Given the description of an element on the screen output the (x, y) to click on. 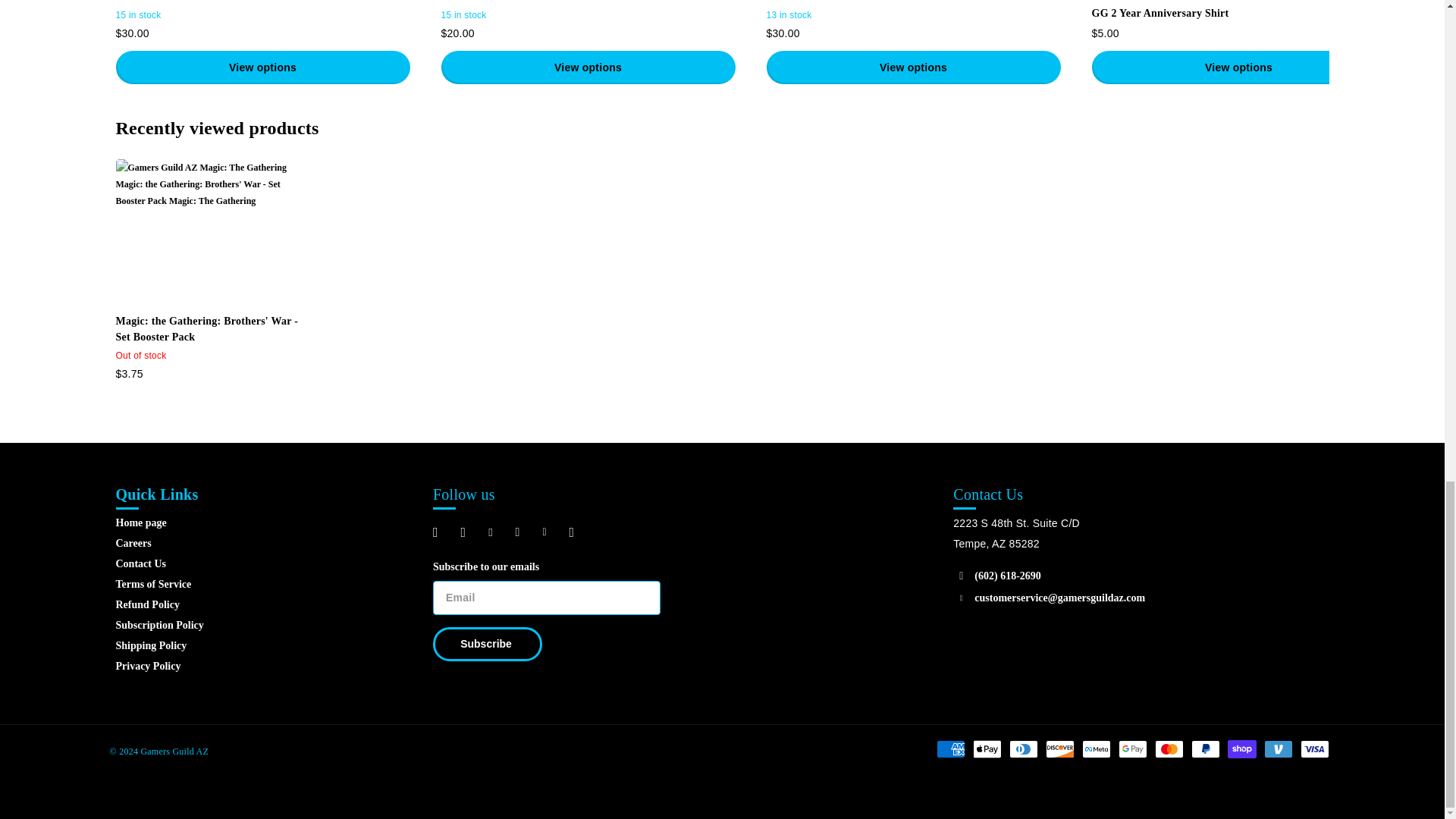
PayPal (1205, 749)
Refund Policy (147, 604)
Terms of Service (152, 583)
Meta Pay (1095, 749)
Visa (1313, 749)
Contact Us (140, 563)
Google Pay (1132, 749)
Mastercard (1168, 749)
Venmo (1277, 749)
Privacy Policy (147, 665)
Shop Pay (1241, 749)
Discover (1059, 749)
Home page (140, 522)
American Express (949, 749)
Diners Club (1022, 749)
